Given the description of an element on the screen output the (x, y) to click on. 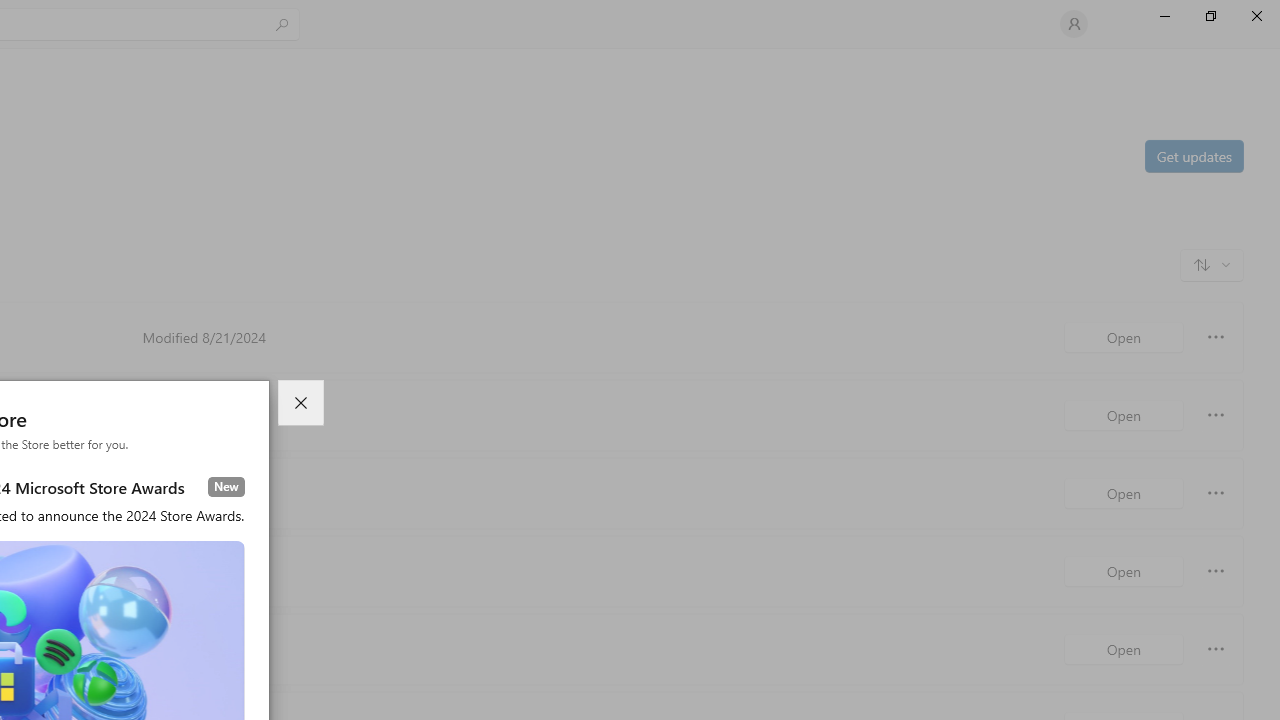
More options (1215, 648)
User profile (1073, 24)
Get updates (1193, 155)
Sort and filter (1212, 263)
Minimize Microsoft Store (1164, 15)
Close dialog (300, 403)
Restore Microsoft Store (1210, 15)
Close Microsoft Store (1256, 15)
Open (1123, 648)
